Given the description of an element on the screen output the (x, y) to click on. 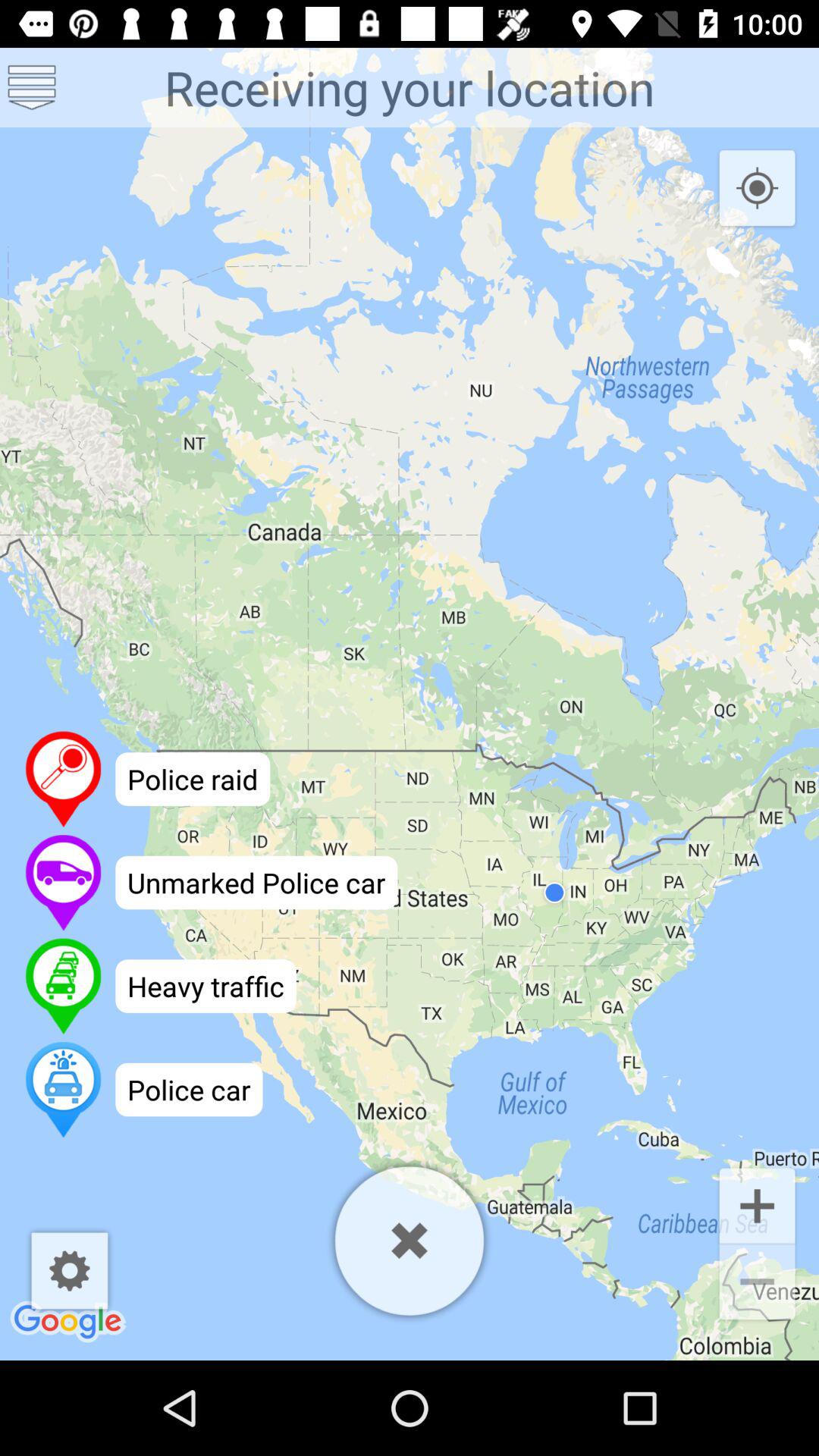
close the map (409, 1240)
